Given the description of an element on the screen output the (x, y) to click on. 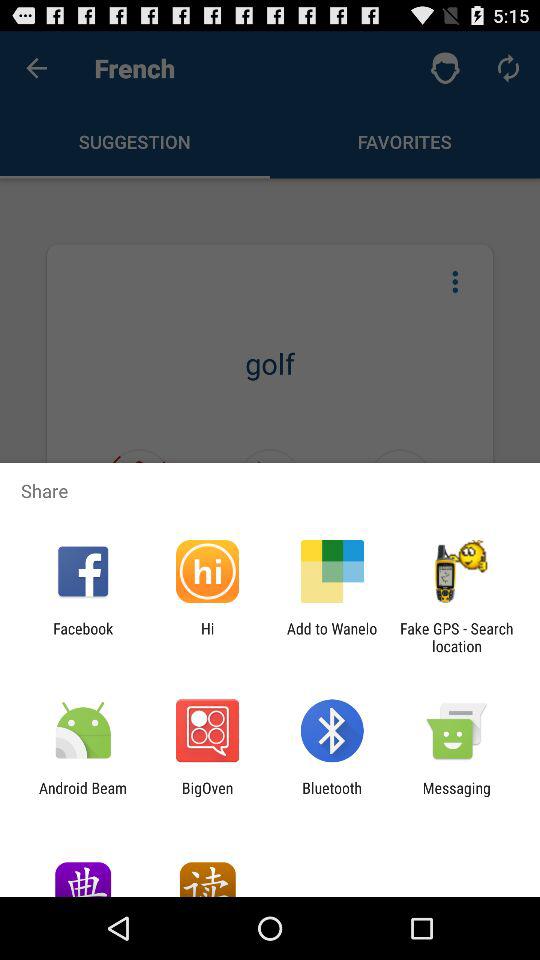
open the android beam (83, 796)
